Given the description of an element on the screen output the (x, y) to click on. 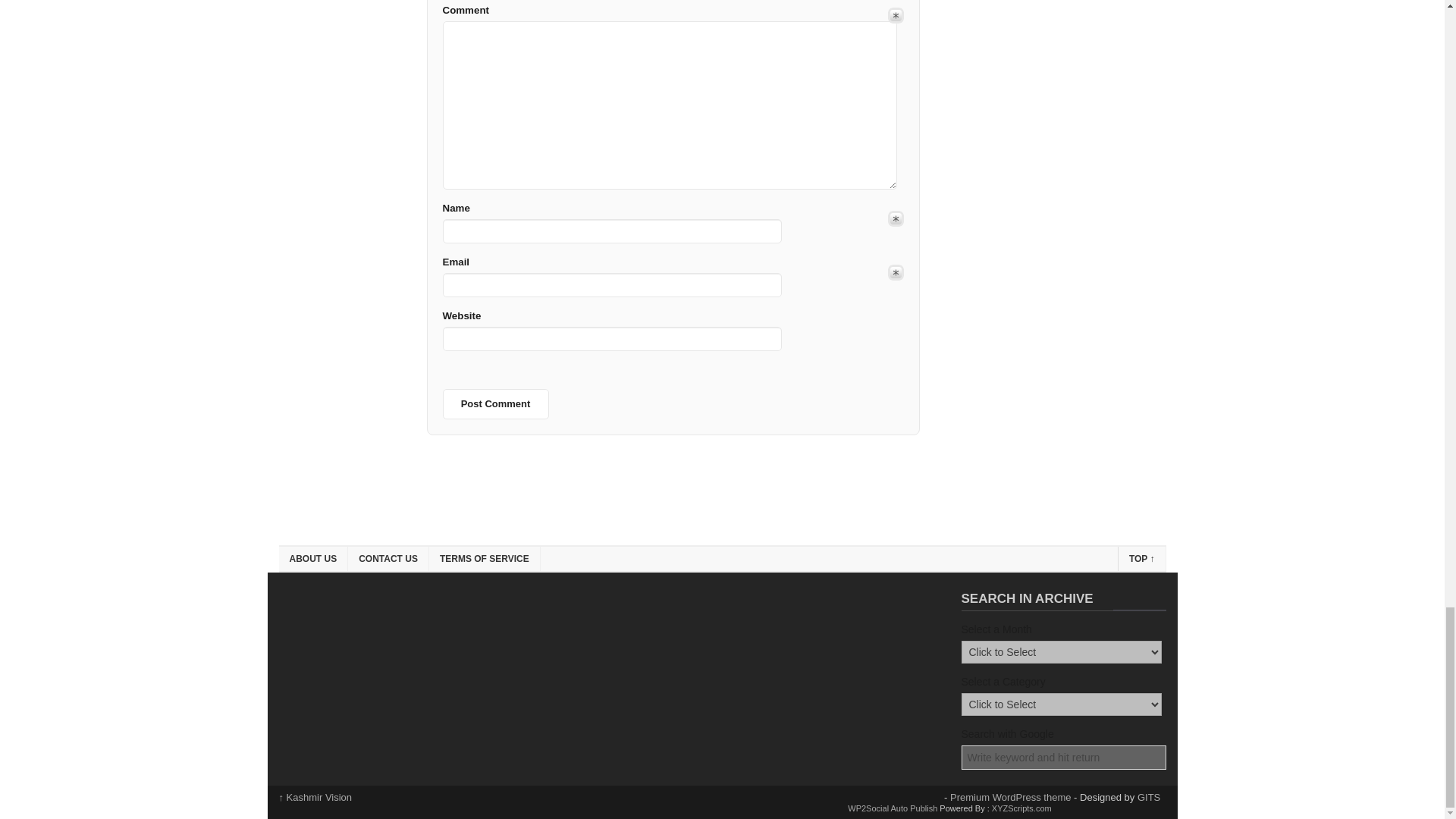
Post Comment (495, 404)
Write keyword and hit return (1063, 757)
